Given the description of an element on the screen output the (x, y) to click on. 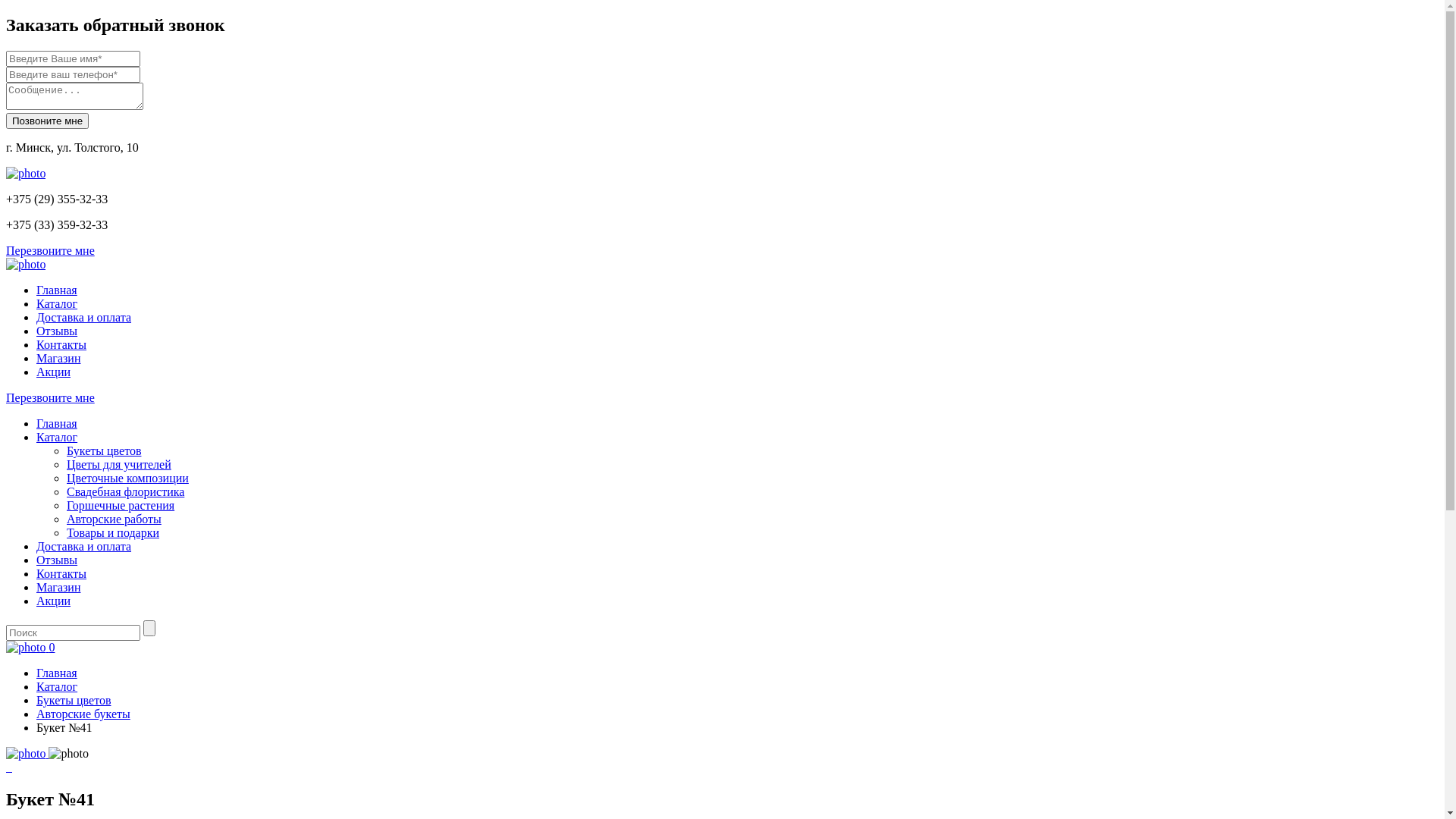
0 Element type: text (30, 646)
